Given the description of an element on the screen output the (x, y) to click on. 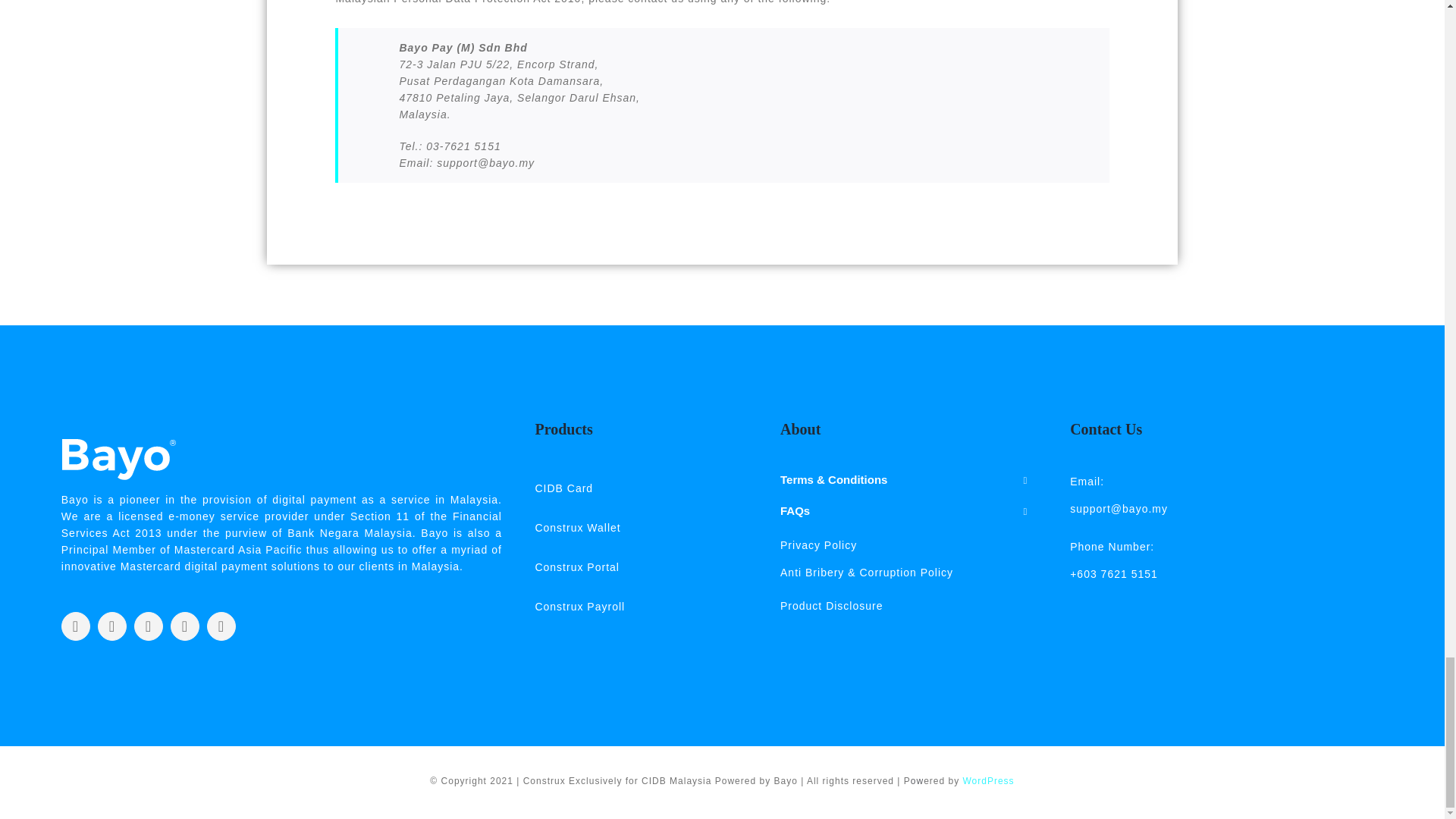
bayo white (118, 459)
